Given the description of an element on the screen output the (x, y) to click on. 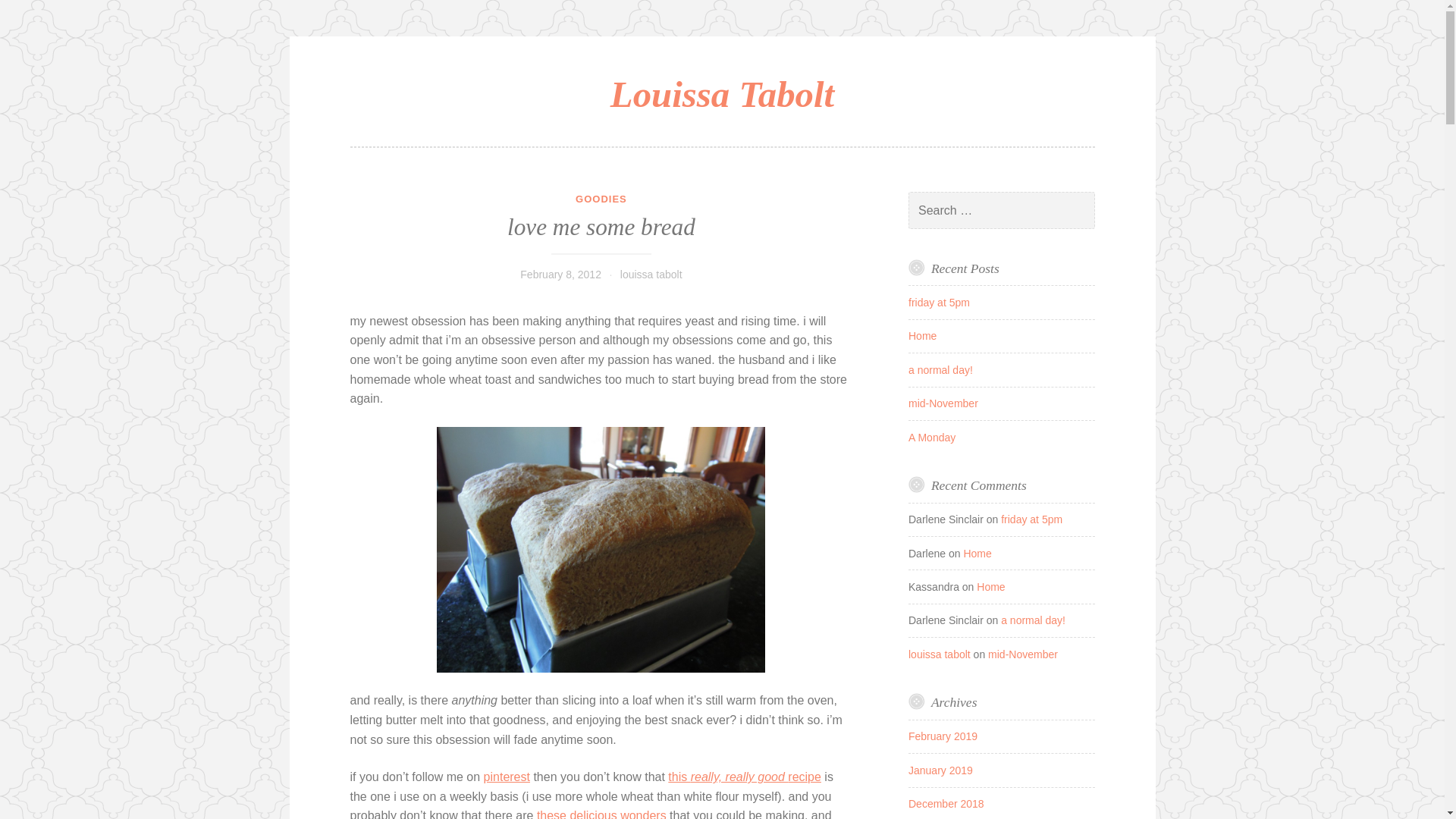
Home (990, 586)
friday at 5pm (1031, 519)
January 2019 (940, 770)
louissa tabolt (939, 654)
Louissa Tabolt (722, 94)
February 8, 2012 (560, 274)
pinterest (506, 776)
mid-November (1023, 654)
February 2019 (942, 736)
